Given the description of an element on the screen output the (x, y) to click on. 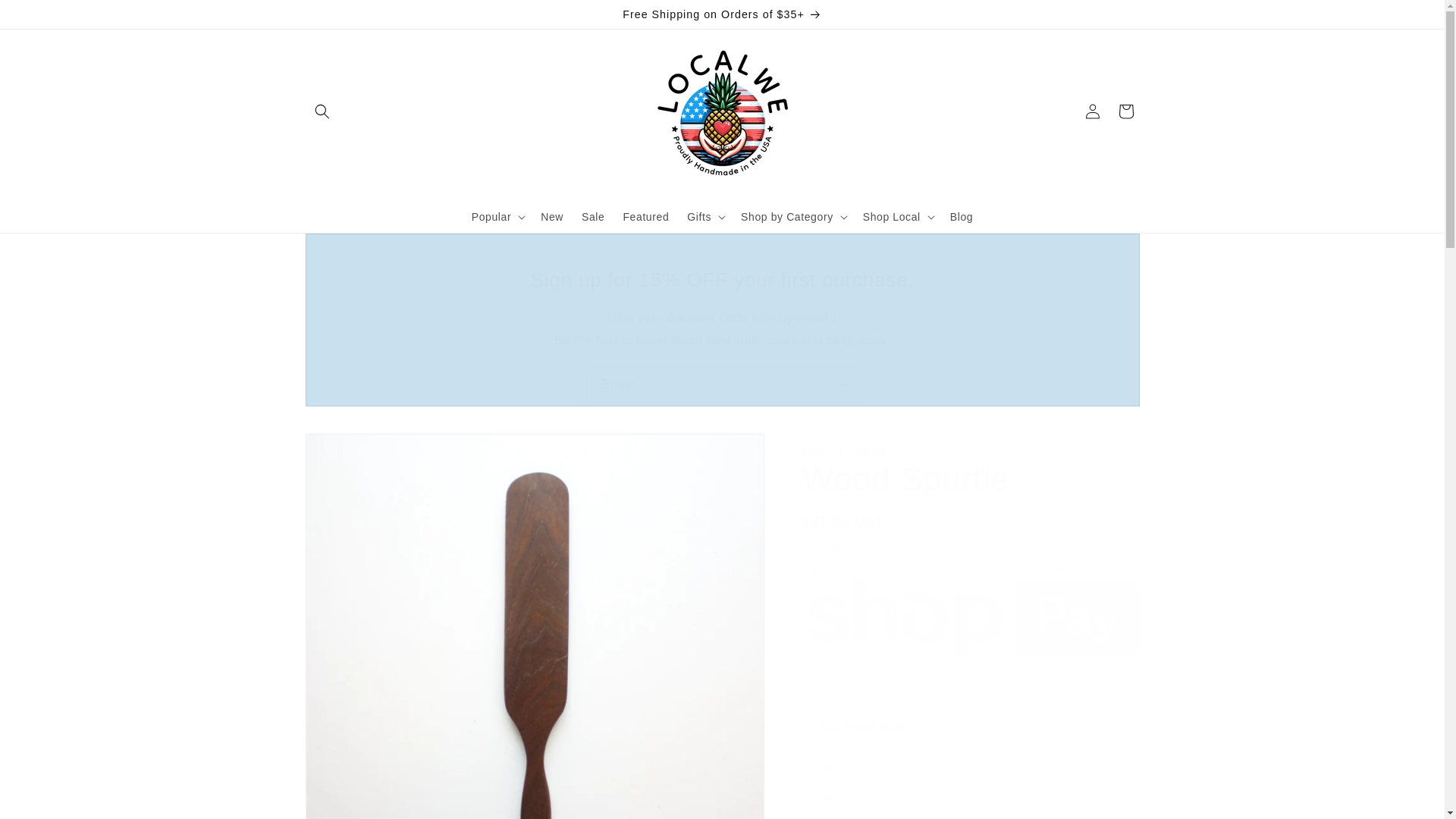
Email (722, 384)
1 (856, 814)
Skip to content (45, 17)
BoWood Company (846, 452)
